Given the description of an element on the screen output the (x, y) to click on. 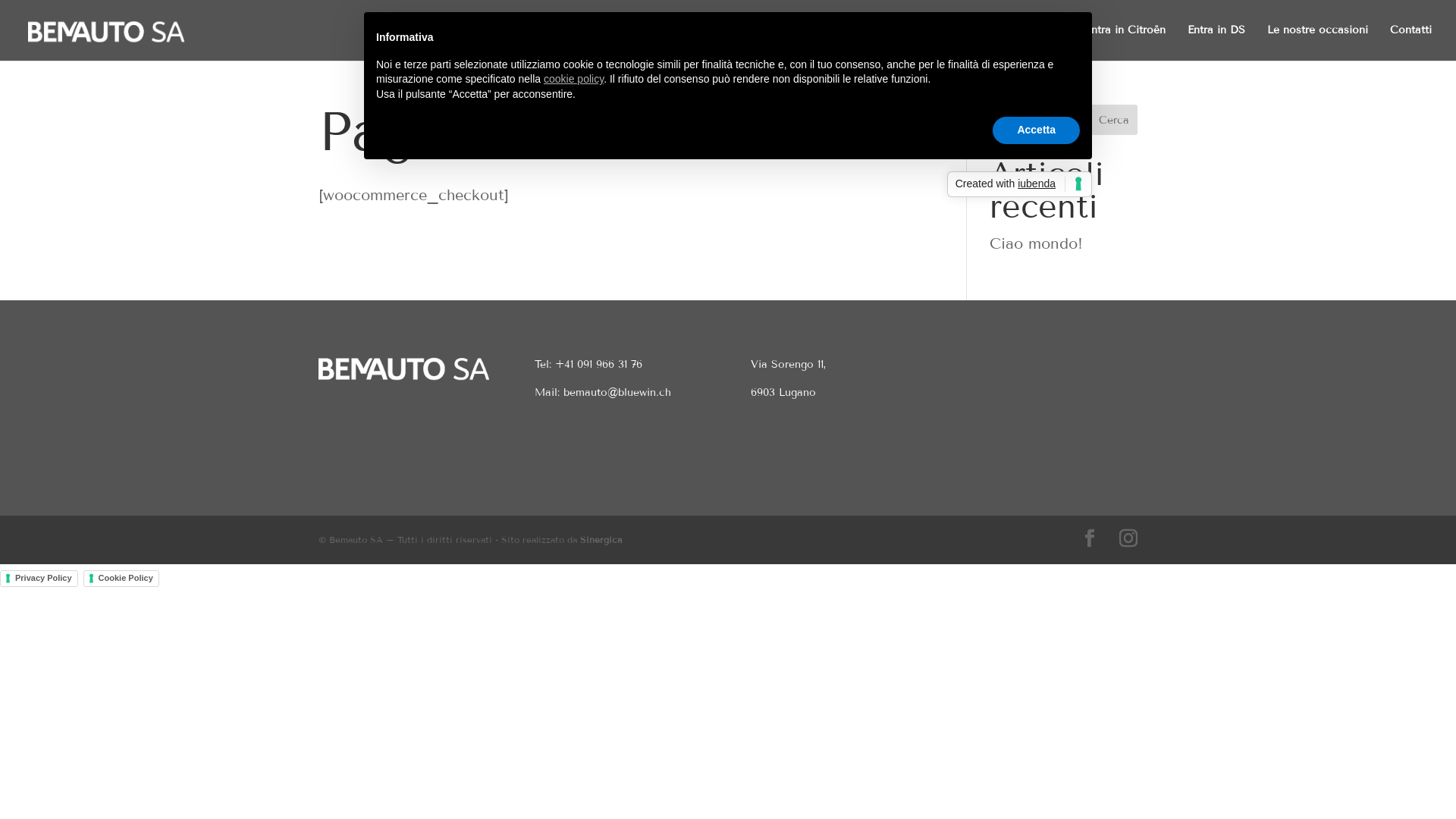
Contatti Element type: text (1410, 42)
Chi siamo Element type: text (974, 42)
Privacy Policy Element type: text (39, 578)
Le nostre occasioni Element type: text (1317, 42)
Cerca Element type: text (1113, 119)
Created with iubenda Element type: text (1019, 184)
Entra in DS Element type: text (1216, 42)
Home Element type: text (910, 42)
cookie policy Element type: text (573, 78)
Cookie Policy Element type: text (121, 578)
Accetta Element type: text (1035, 130)
Officina Element type: text (1042, 42)
Sinergica Element type: text (600, 539)
Ciao mondo! Element type: text (1035, 243)
